Given the description of an element on the screen output the (x, y) to click on. 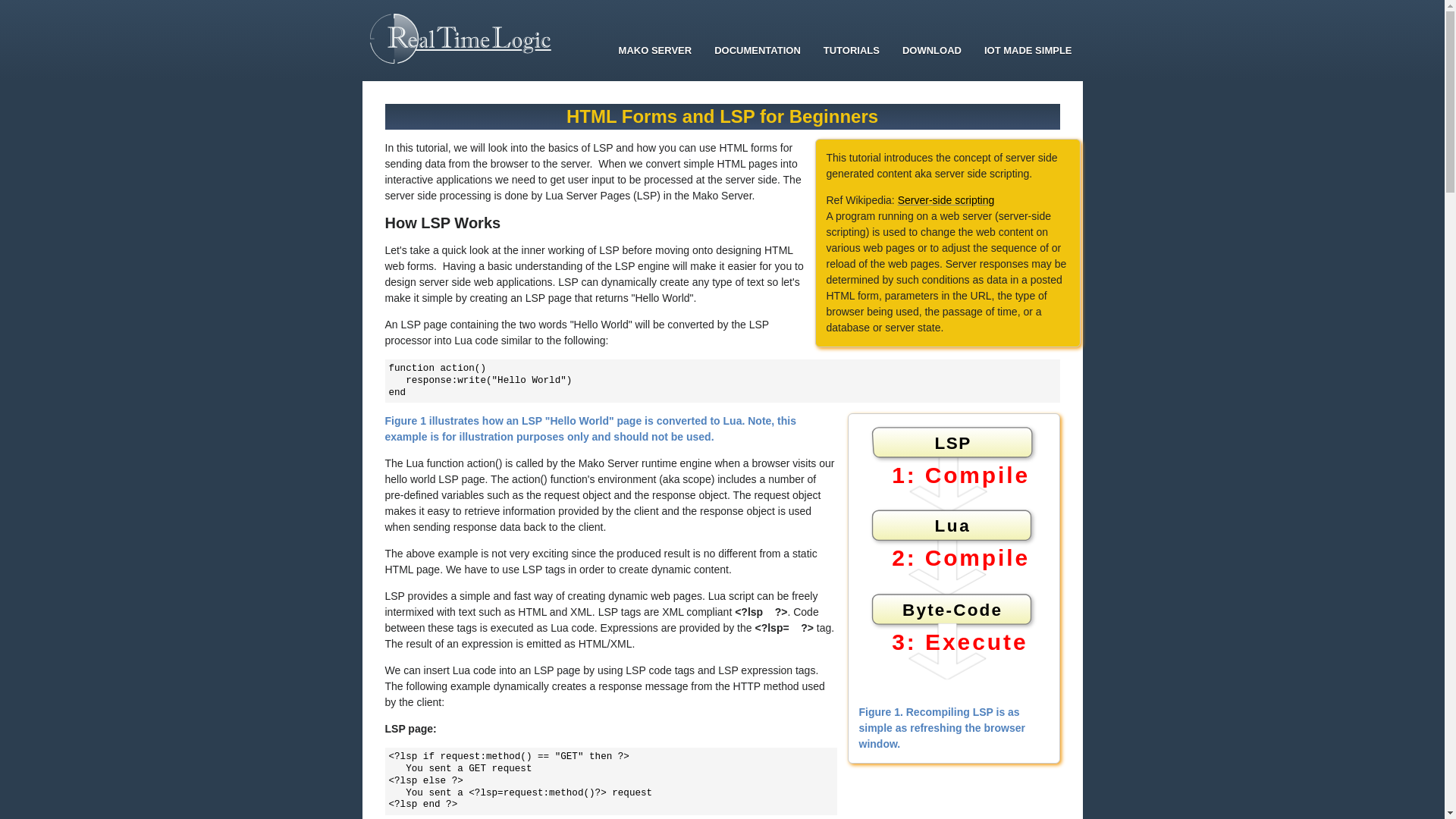
TUTORIALS (851, 50)
IOT MADE SIMPLE (1027, 50)
HTML Forms and LSP for Beginners (721, 116)
Server-side scripting (946, 200)
DOCUMENTATION (757, 50)
MAKO SERVER (655, 50)
DOWNLOAD (931, 50)
